Given the description of an element on the screen output the (x, y) to click on. 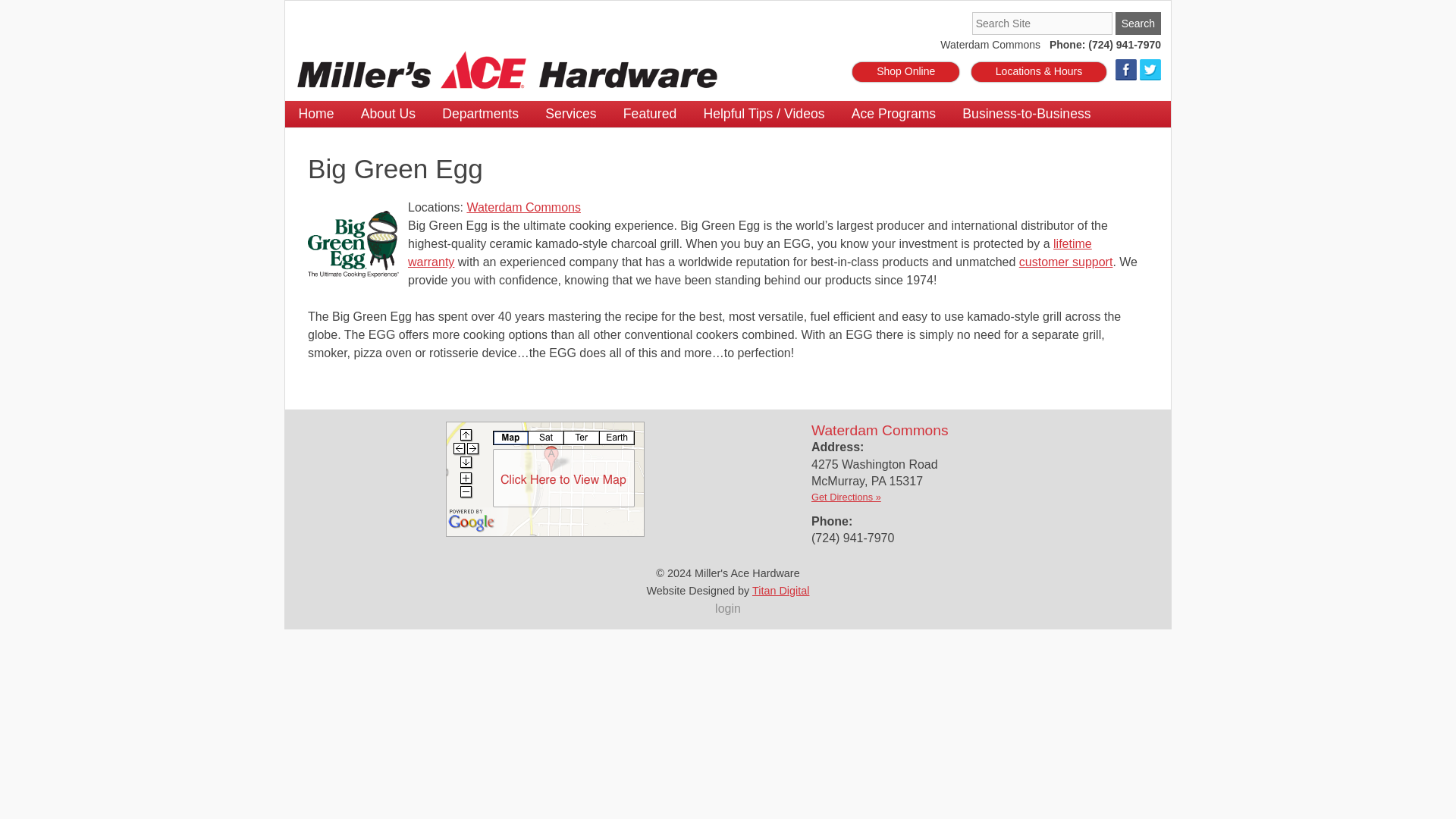
Big Green Egg (352, 243)
Departments (480, 113)
About Us (388, 113)
Services (571, 113)
Shop Online (905, 71)
Featured (650, 113)
Search (1137, 23)
Waterdam Commons (990, 45)
Home (316, 113)
